Given the description of an element on the screen output the (x, y) to click on. 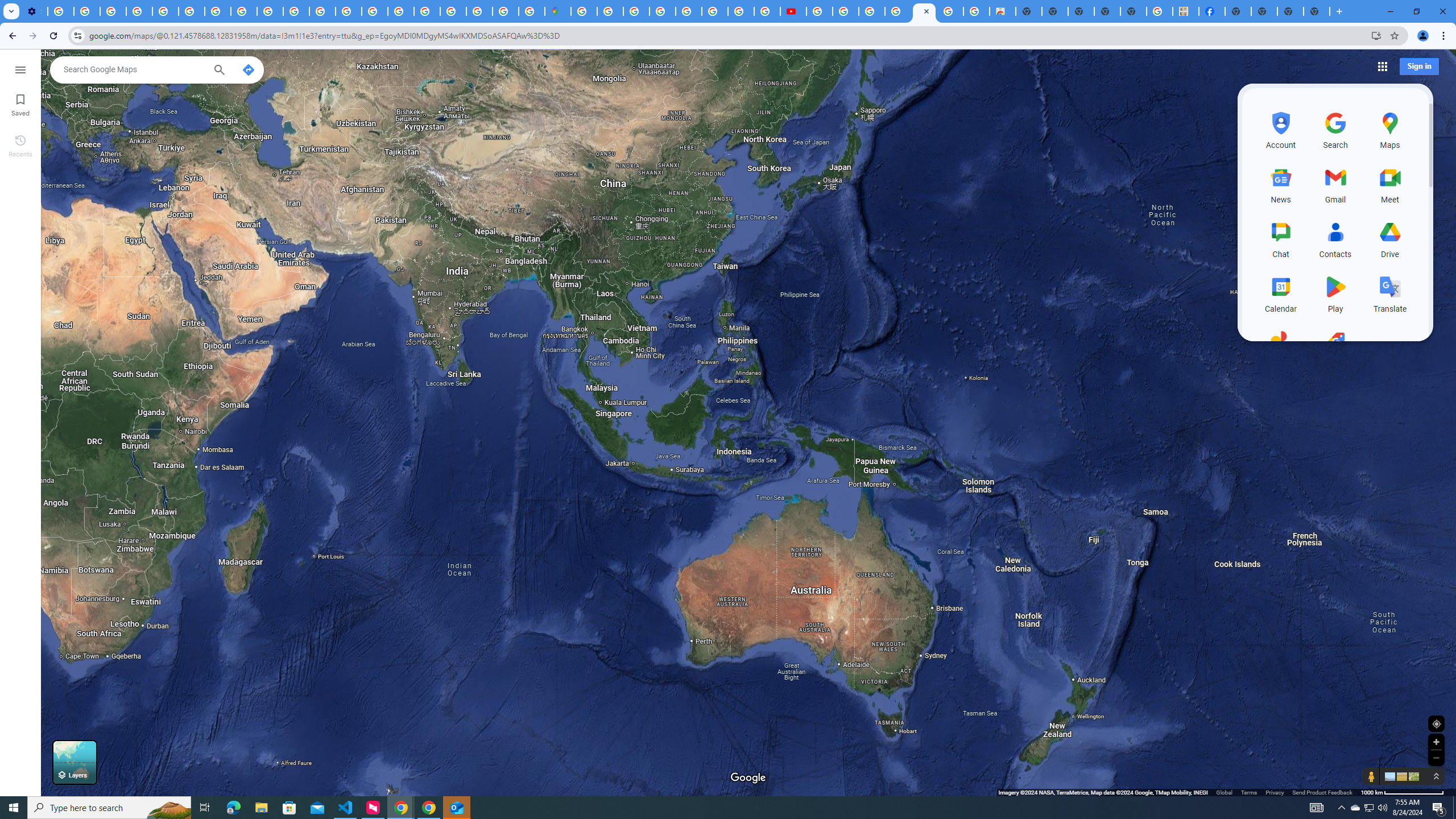
Search (218, 70)
Install Google Maps (1376, 35)
Menu (20, 68)
Sign in - Google Accounts (453, 11)
Sign in - Google Accounts (610, 11)
Privacy Checkup (269, 11)
Privacy Help Center - Policies Help (740, 11)
MILEY CYRUS. (1185, 11)
